Given the description of an element on the screen output the (x, y) to click on. 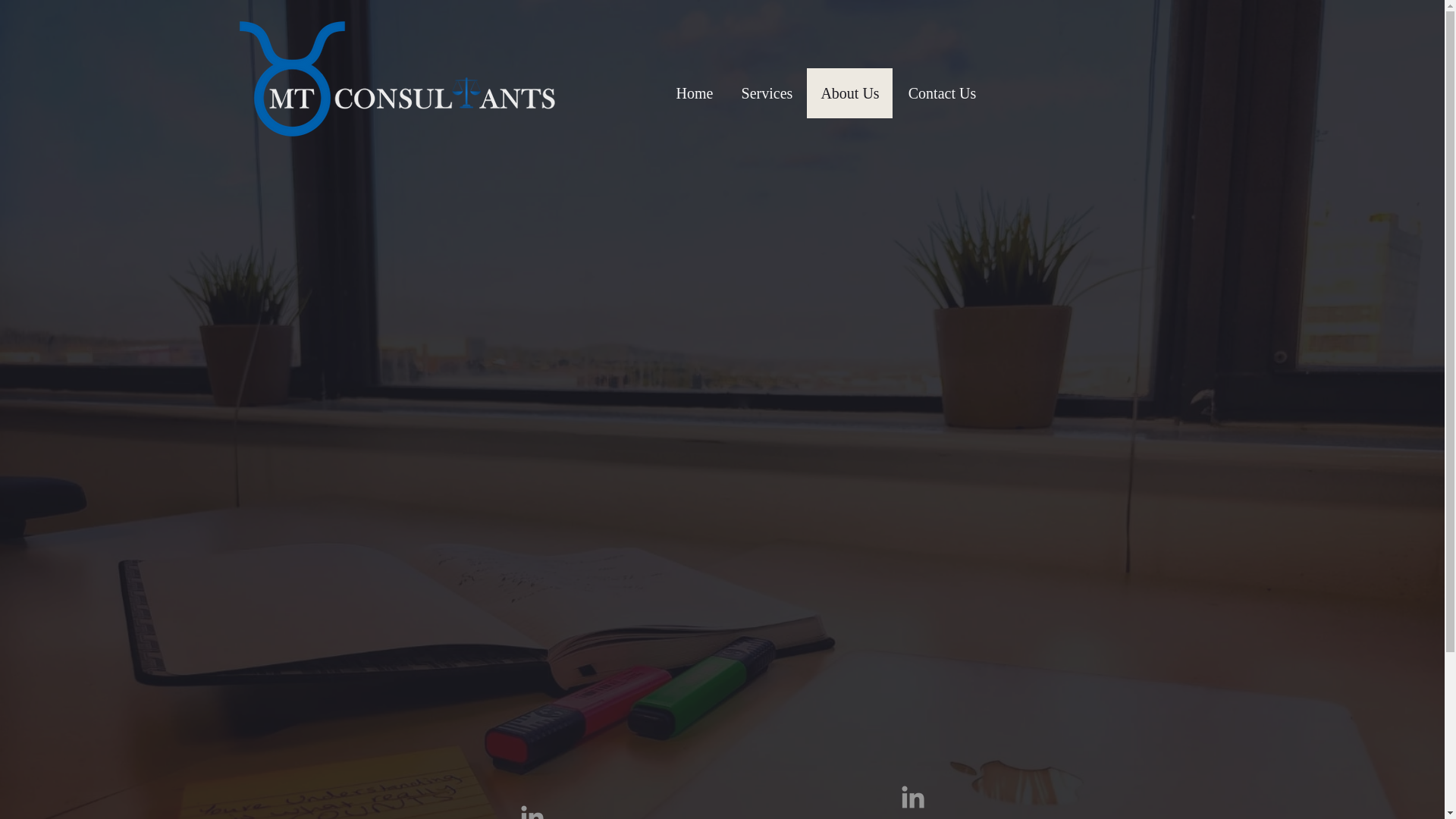
About Us (849, 92)
Services (766, 92)
Contact Us (941, 92)
Home (694, 92)
